Given the description of an element on the screen output the (x, y) to click on. 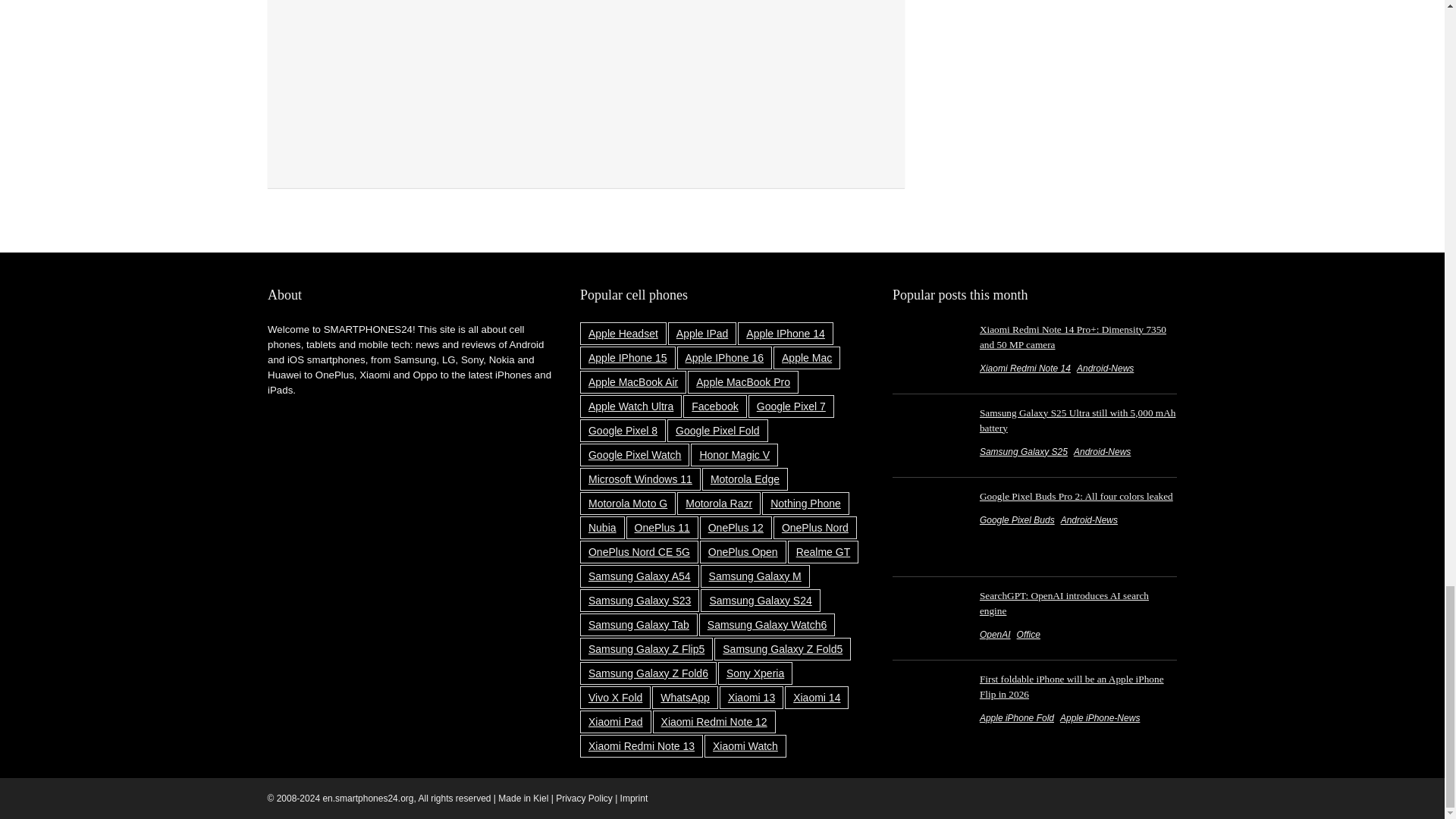
Comment Form (585, 81)
